Given the description of an element on the screen output the (x, y) to click on. 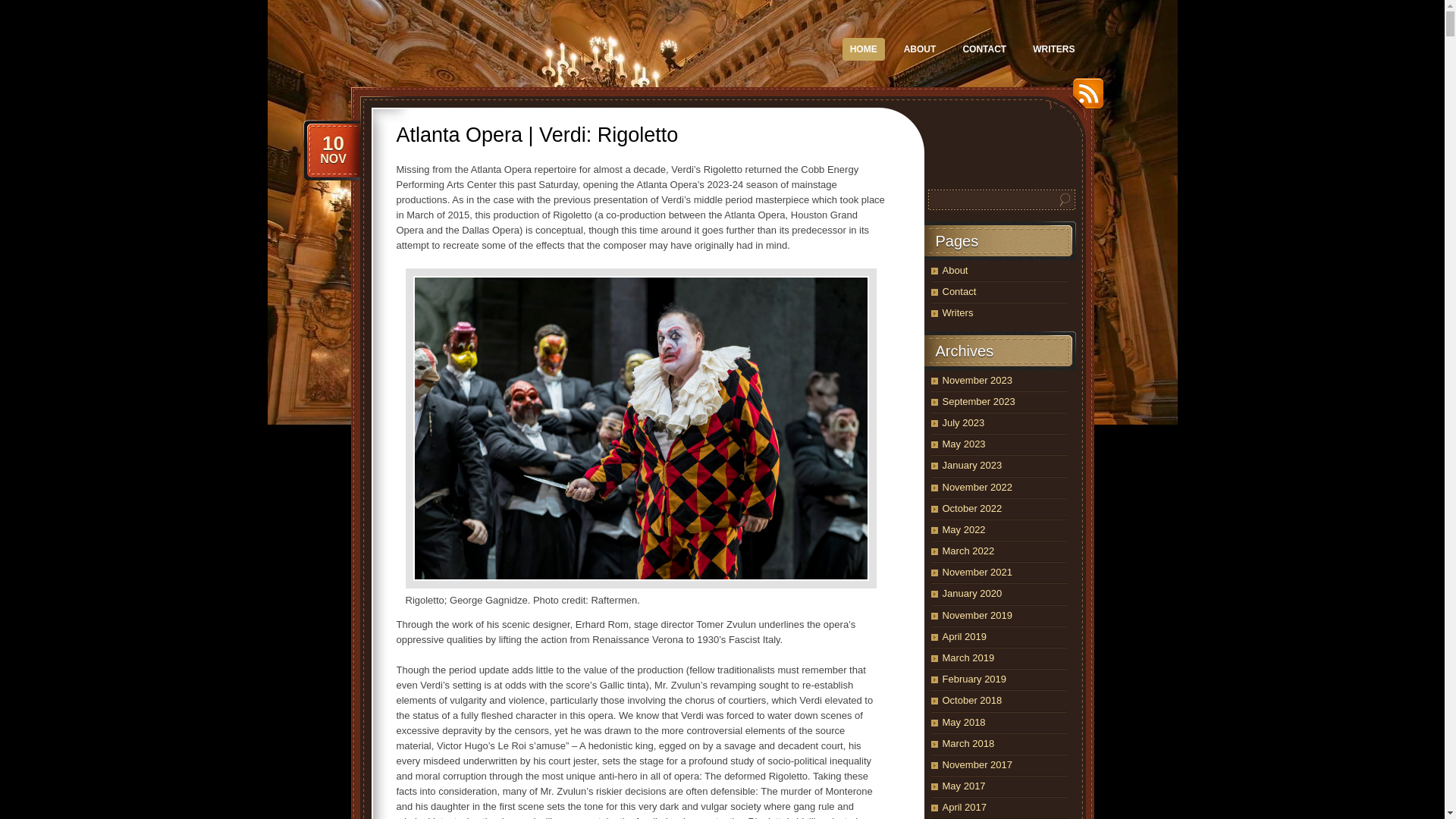
CONTACT (984, 48)
WRITERS (1053, 48)
RSS (1083, 98)
HOME (864, 48)
ABOUT (332, 149)
Search (919, 48)
